Given the description of an element on the screen output the (x, y) to click on. 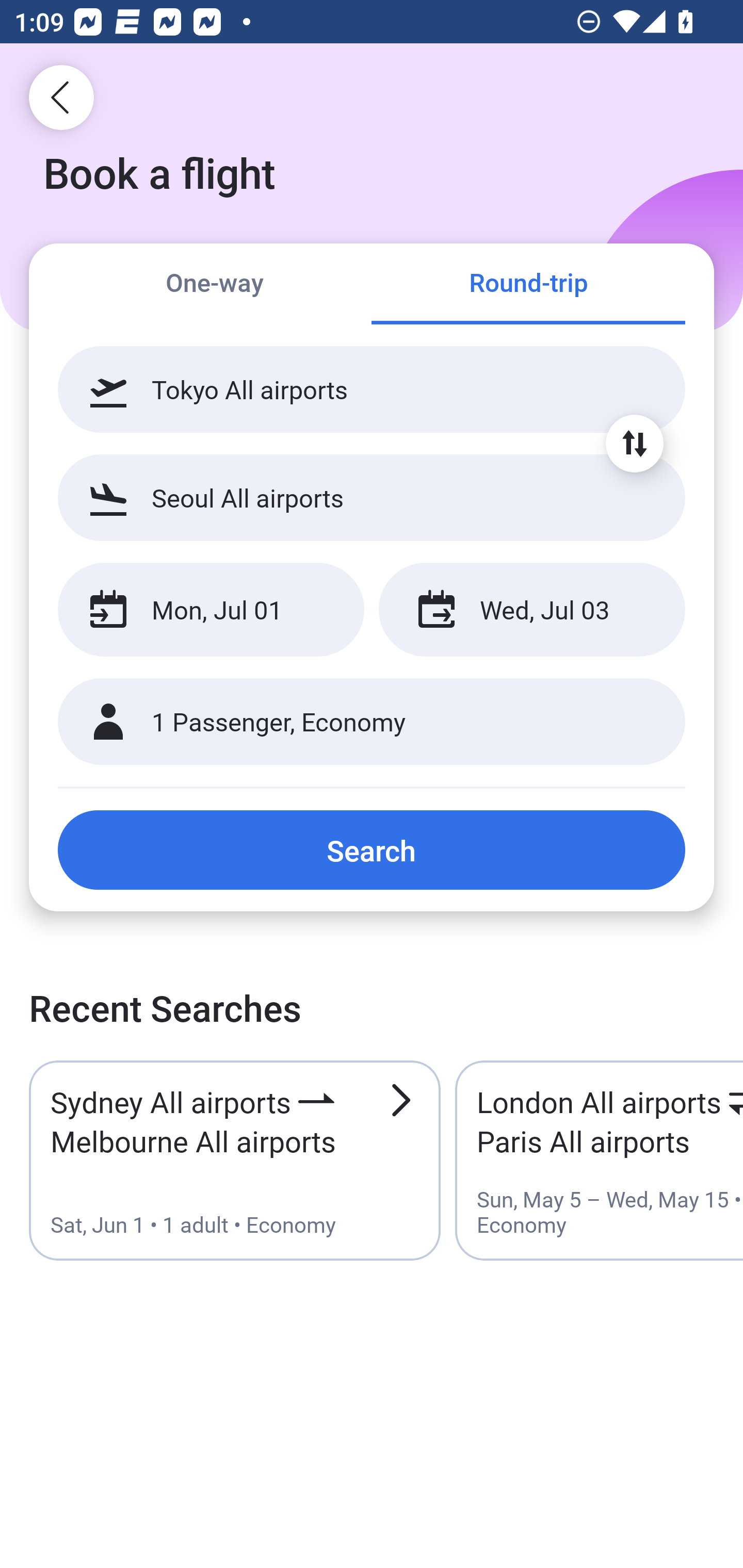
One-way (214, 284)
Tokyo All airports (371, 389)
Seoul All airports (371, 497)
Mon, Jul 01 (210, 609)
Wed, Jul 03 (531, 609)
1 Passenger, Economy (371, 721)
Search (371, 849)
